Given the description of an element on the screen output the (x, y) to click on. 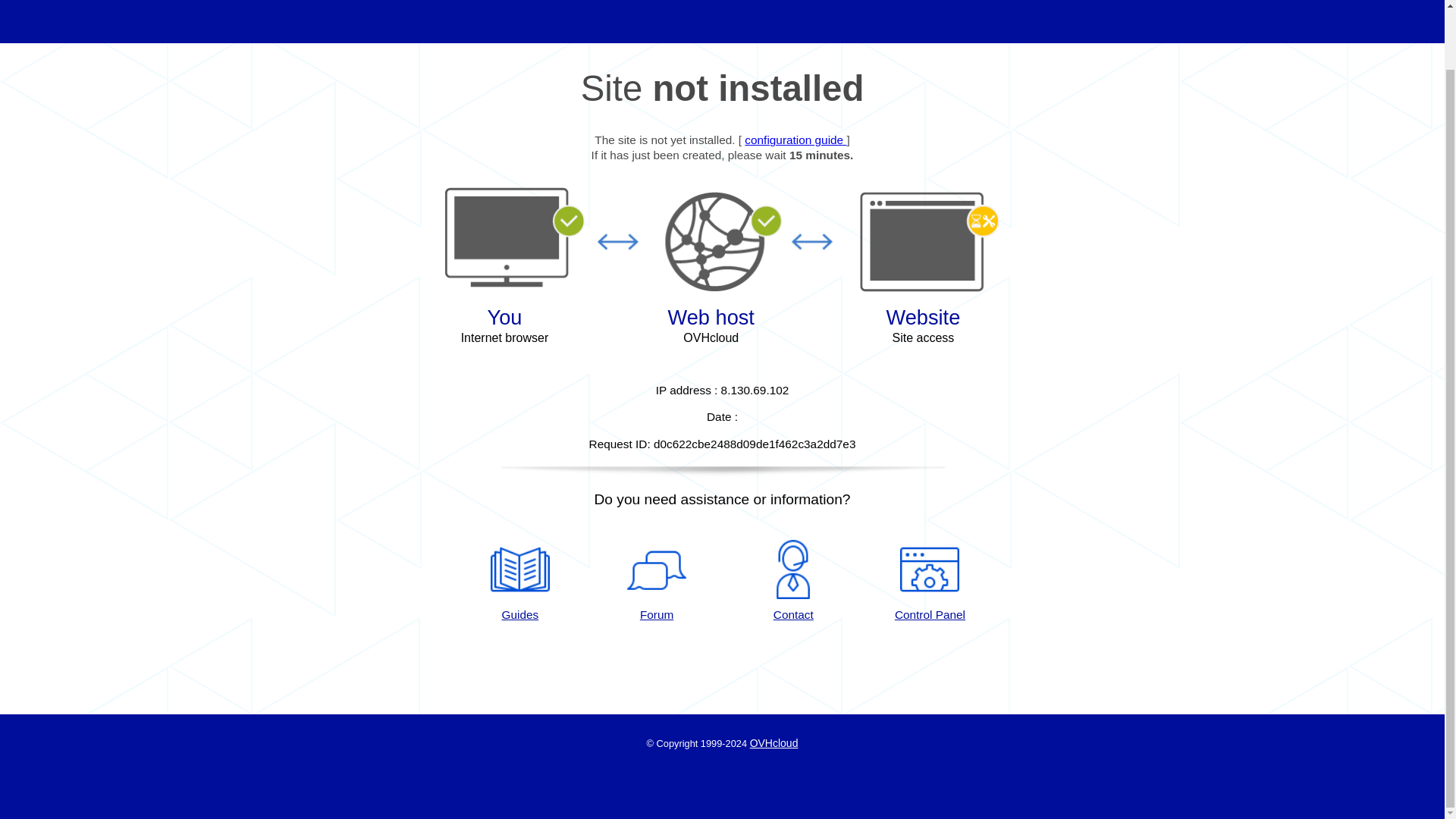
configuration guide (794, 139)
Guides (519, 581)
Forum (656, 581)
Contact (793, 581)
Forum (656, 581)
Guides (794, 139)
Control Panel (930, 581)
Contact (793, 581)
Control Panel (930, 581)
Guides (519, 581)
